Given the description of an element on the screen output the (x, y) to click on. 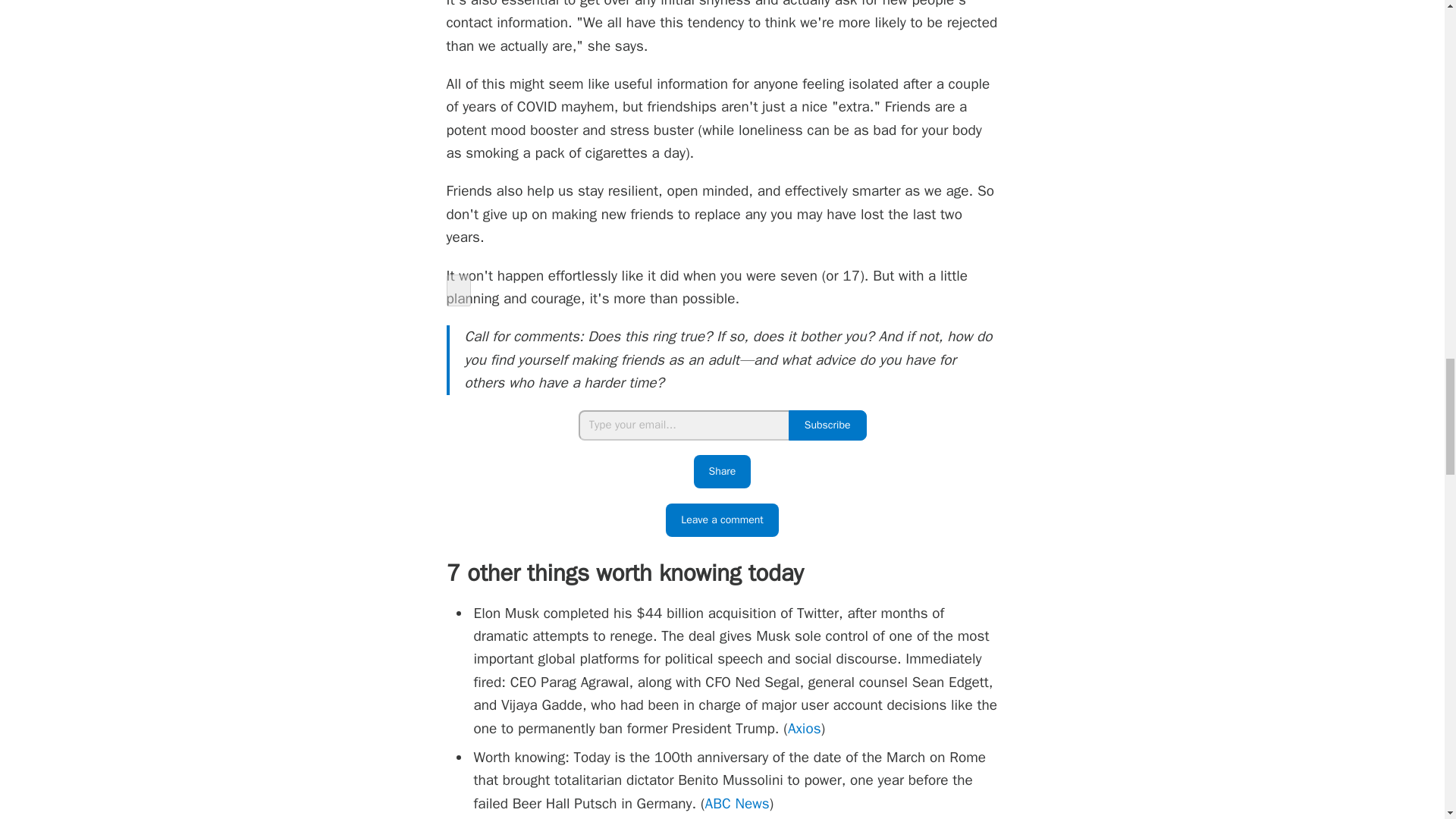
ABC News (737, 803)
Leave a comment (721, 520)
Axios (804, 728)
Share (722, 471)
Subscribe (827, 425)
